Given the description of an element on the screen output the (x, y) to click on. 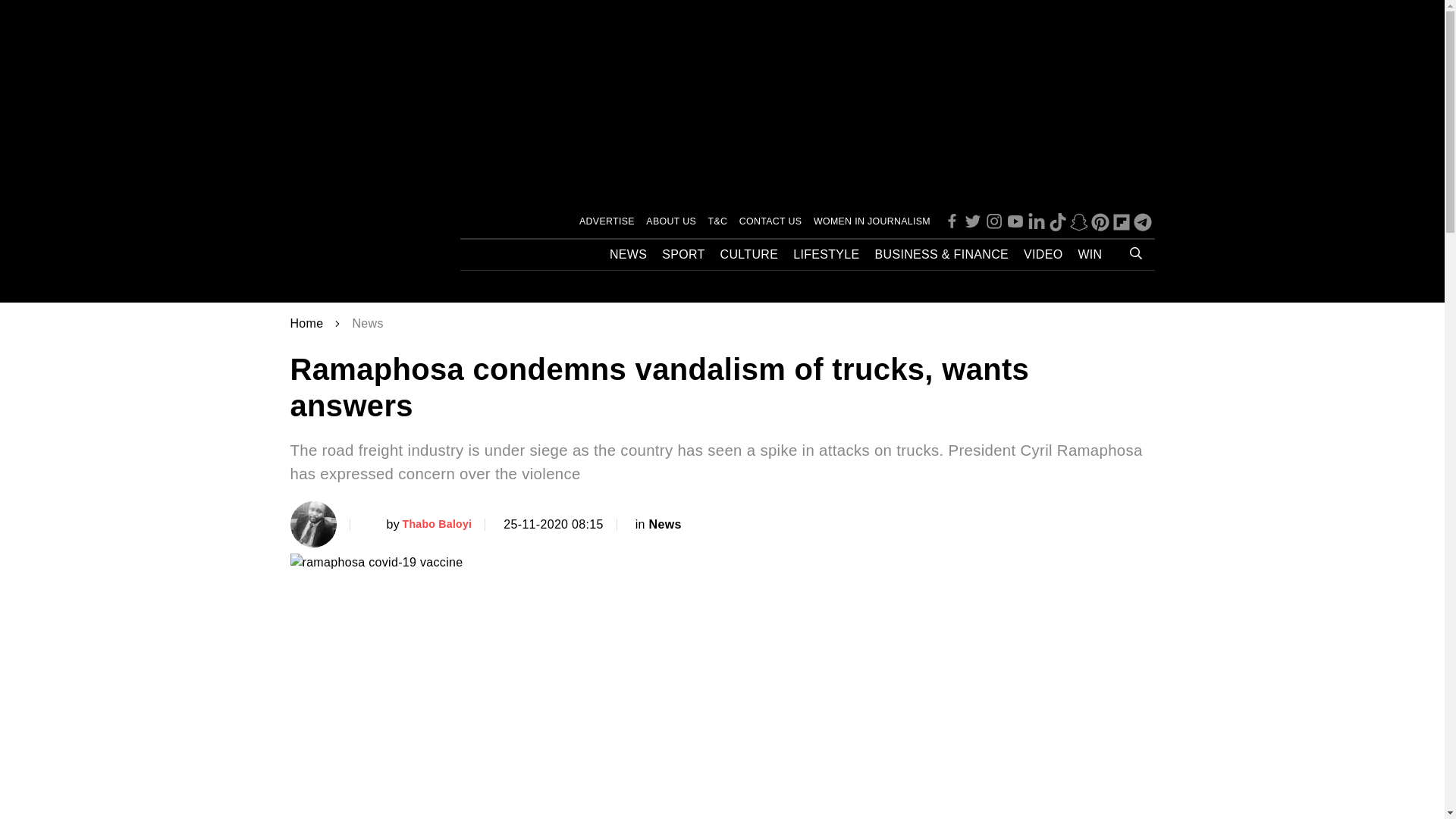
CONTACT US (770, 221)
WOMEN IN JOURNALISM (871, 221)
ABOUT US (670, 221)
ADVERTISE (606, 221)
NEWS (628, 254)
